Given the description of an element on the screen output the (x, y) to click on. 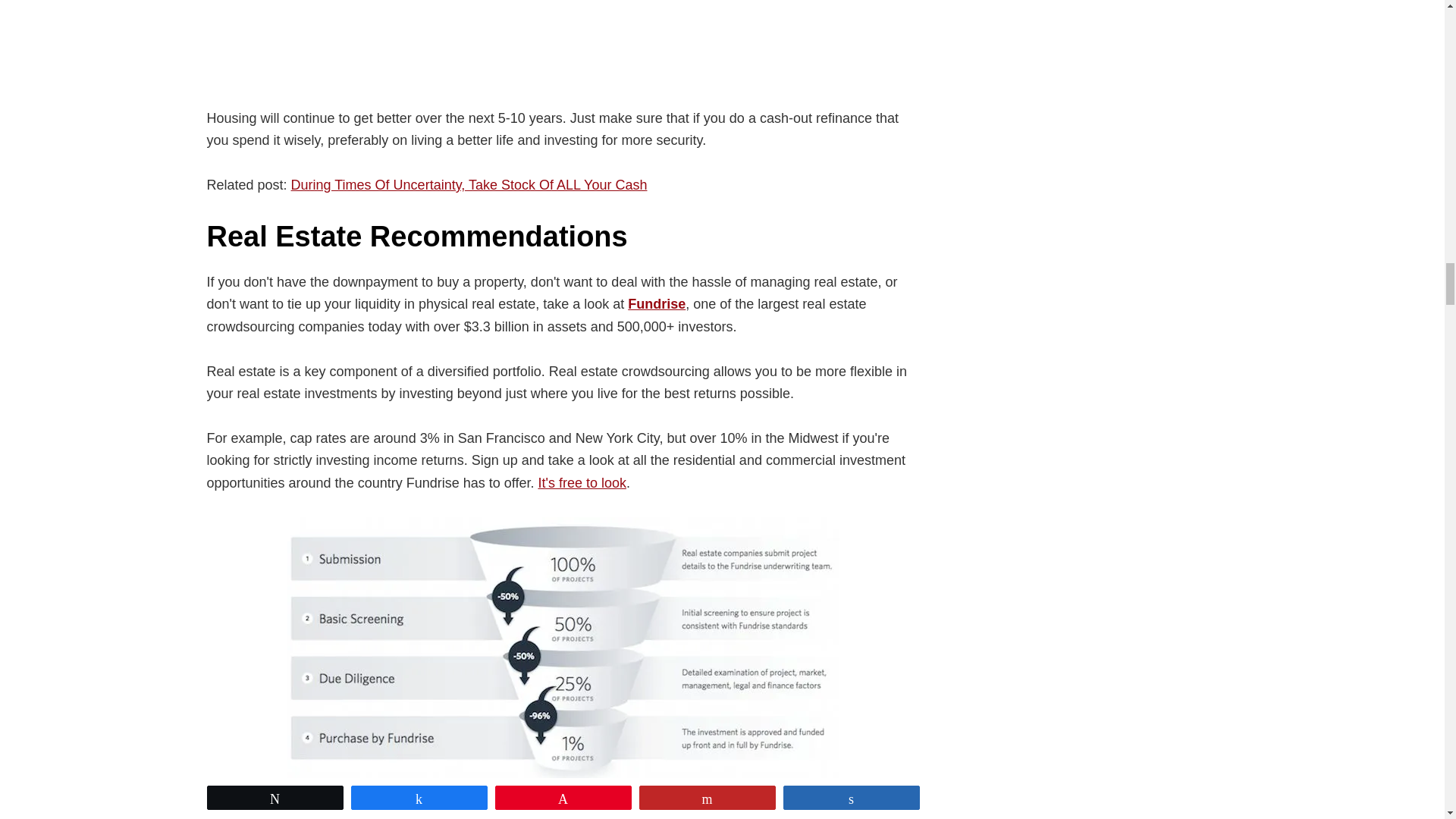
During Times Of Uncertainty, Take Stock Of ALL Your Cash (469, 184)
It's free to look (581, 482)
Fundrise (656, 304)
